Given the description of an element on the screen output the (x, y) to click on. 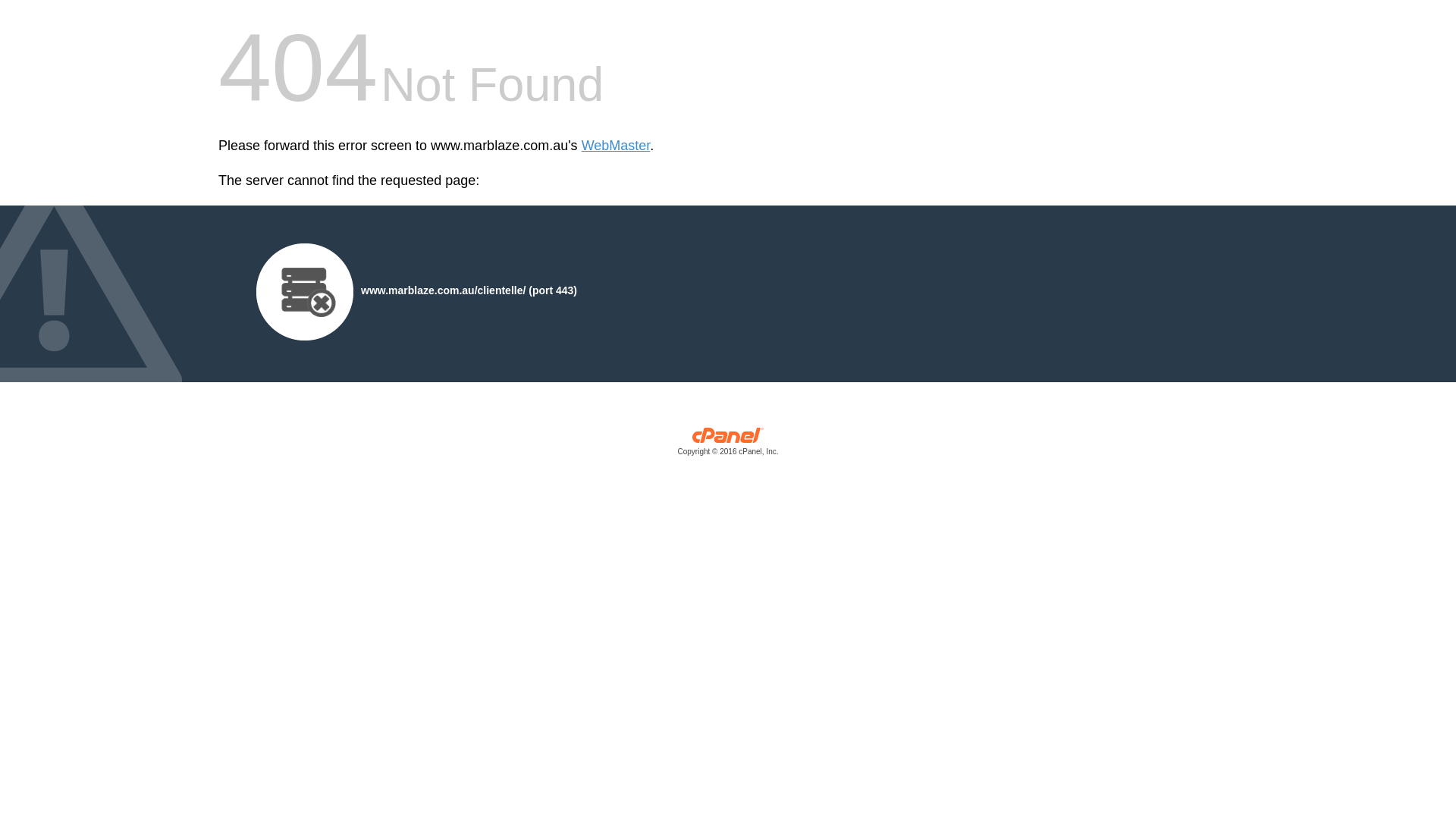
WebMaster Element type: text (615, 145)
